Given the description of an element on the screen output the (x, y) to click on. 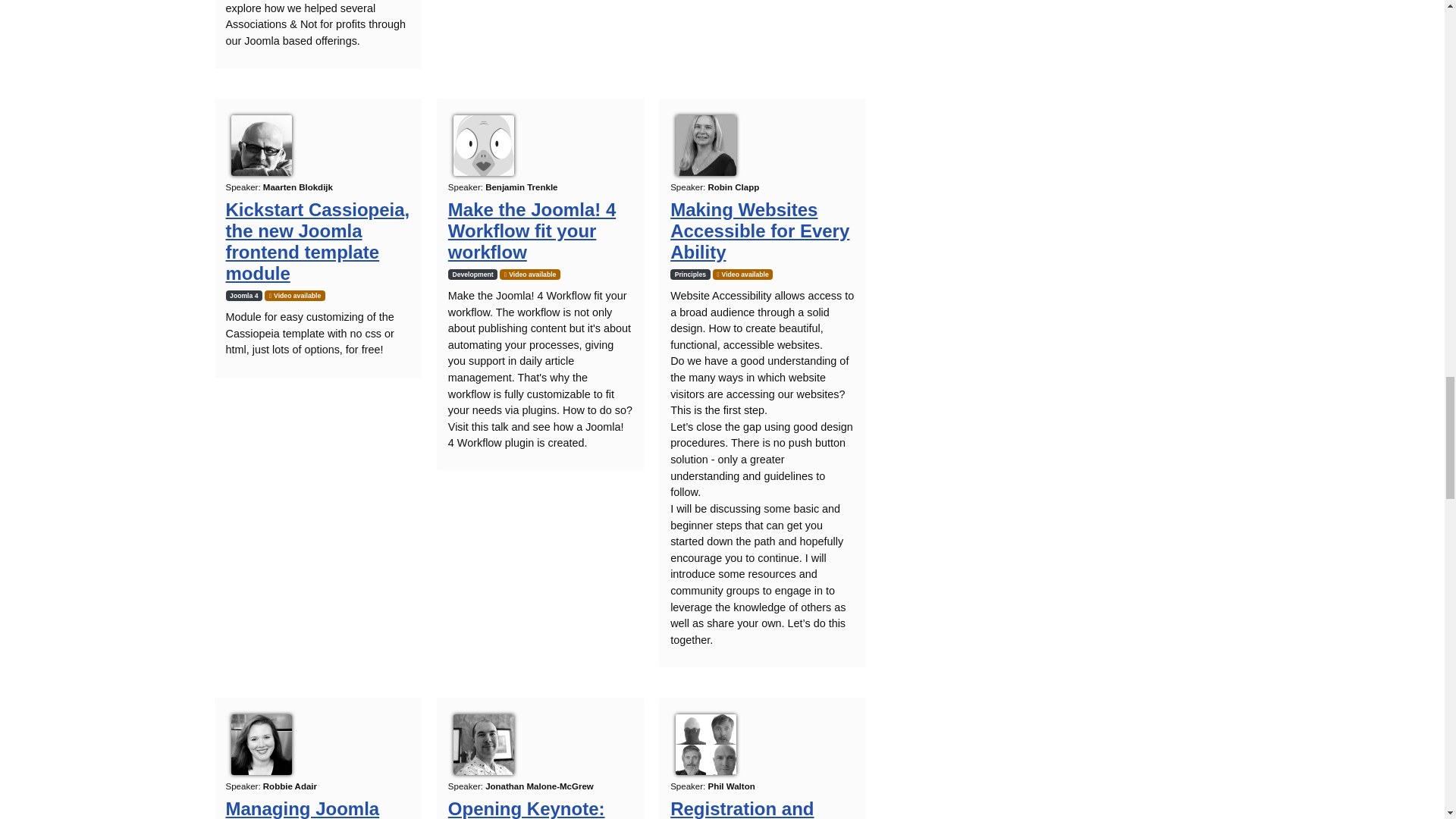
Making Websites Accessible for Every Ability (758, 230)
Managing Joomla Users with Fabrik (302, 808)
Make the Joomla! 4 Workflow fit your workflow (531, 230)
